Given the description of an element on the screen output the (x, y) to click on. 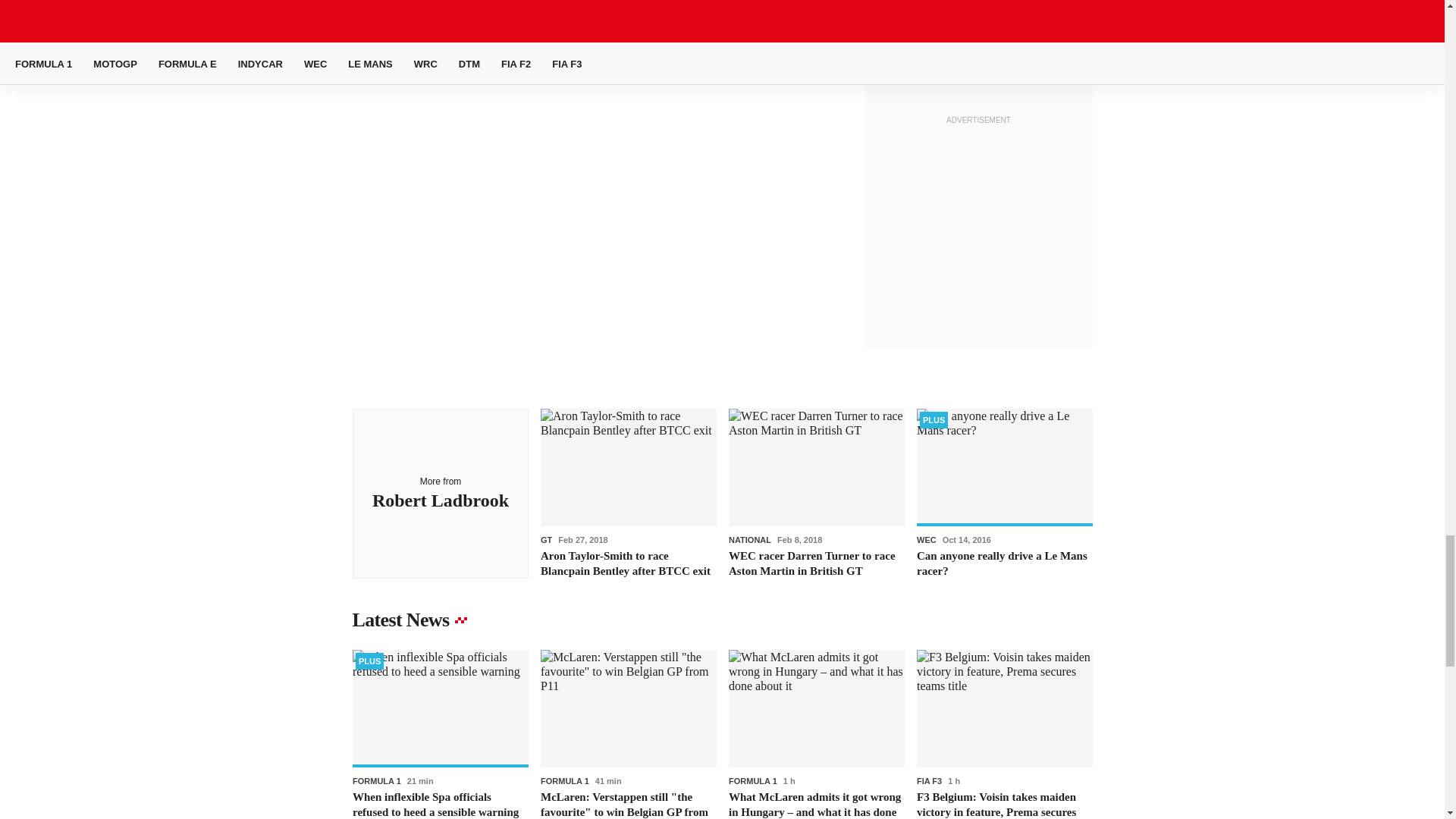
Aron Taylor-Smith to race Blancpain Bentley after BTCC exit (628, 493)
WEC racer Darren Turner to race Aston Martin in British GT (816, 493)
Can anyone really drive a Le Mans racer? (1003, 493)
